Given the description of an element on the screen output the (x, y) to click on. 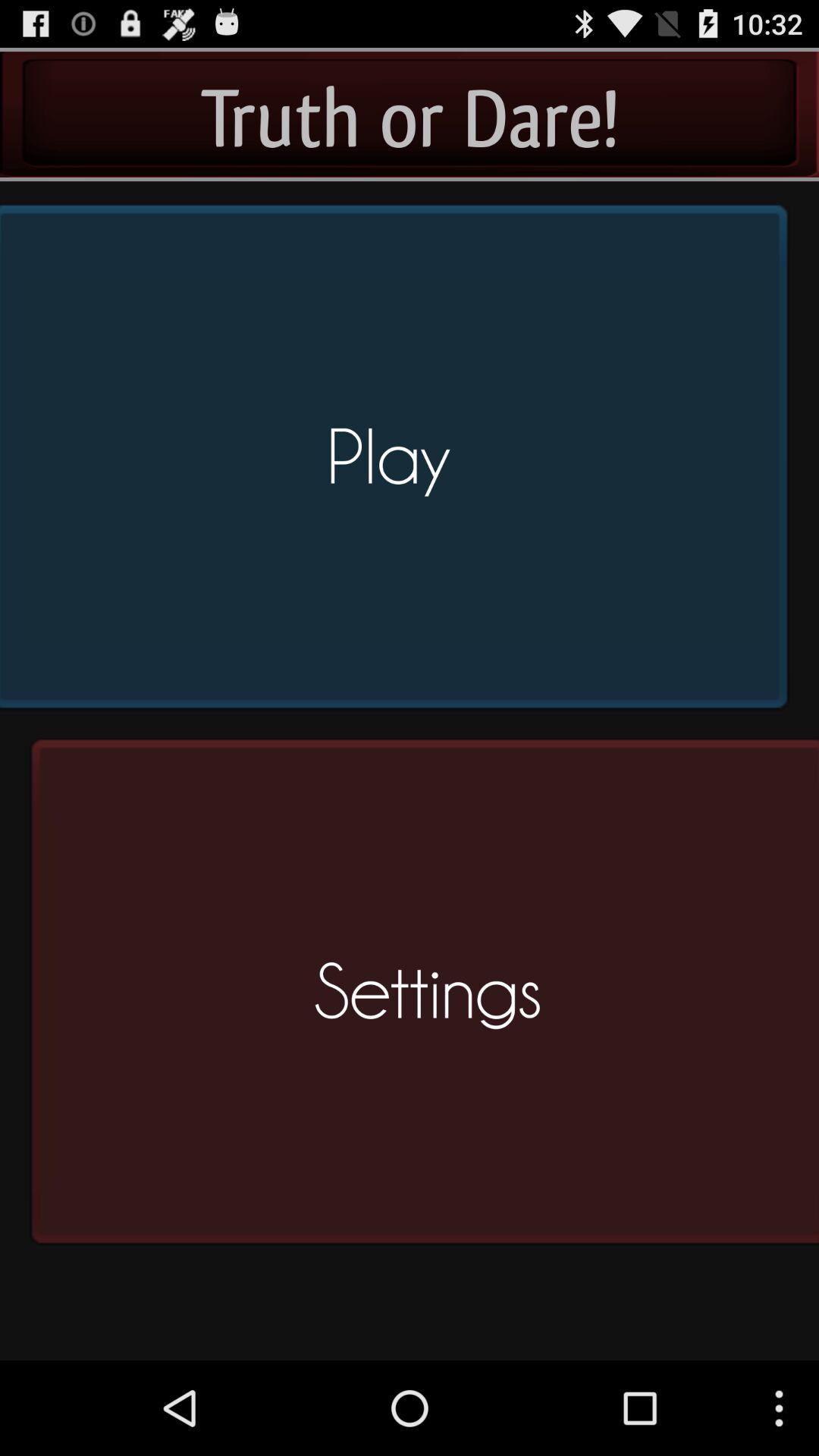
choose button at the bottom (419, 997)
